Given the description of an element on the screen output the (x, y) to click on. 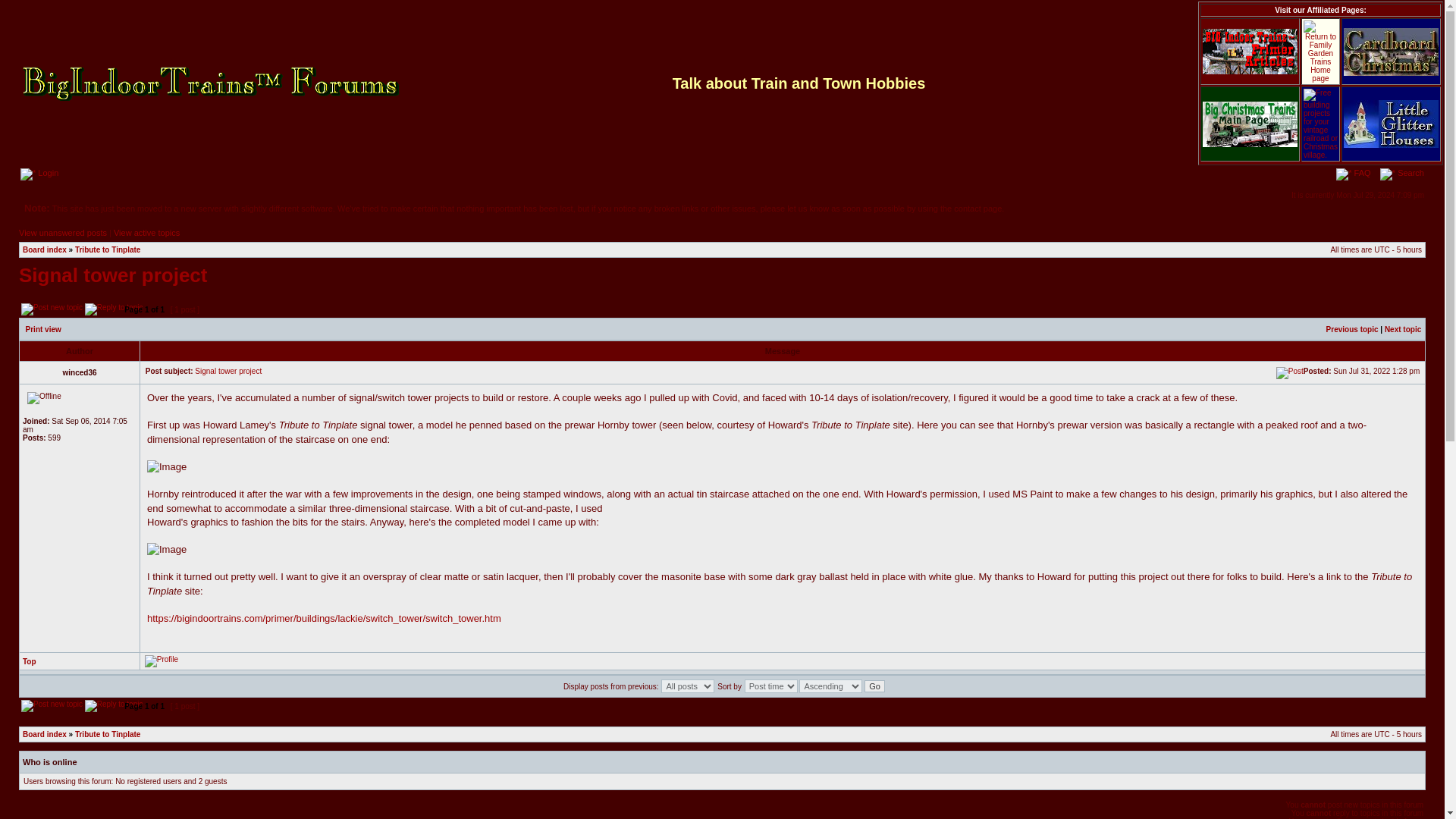
Search (1401, 172)
Reply to topic (113, 705)
Signal tower project (228, 370)
Signal tower project (113, 274)
Reply to topic (113, 309)
Offline (44, 398)
Board index (44, 734)
Go (874, 686)
View active topics (146, 232)
Post (1289, 372)
Post new topic (51, 309)
FAQ (1353, 172)
Tribute to Tinplate (107, 249)
Post new topic (51, 705)
Login (39, 172)
